Given the description of an element on the screen output the (x, y) to click on. 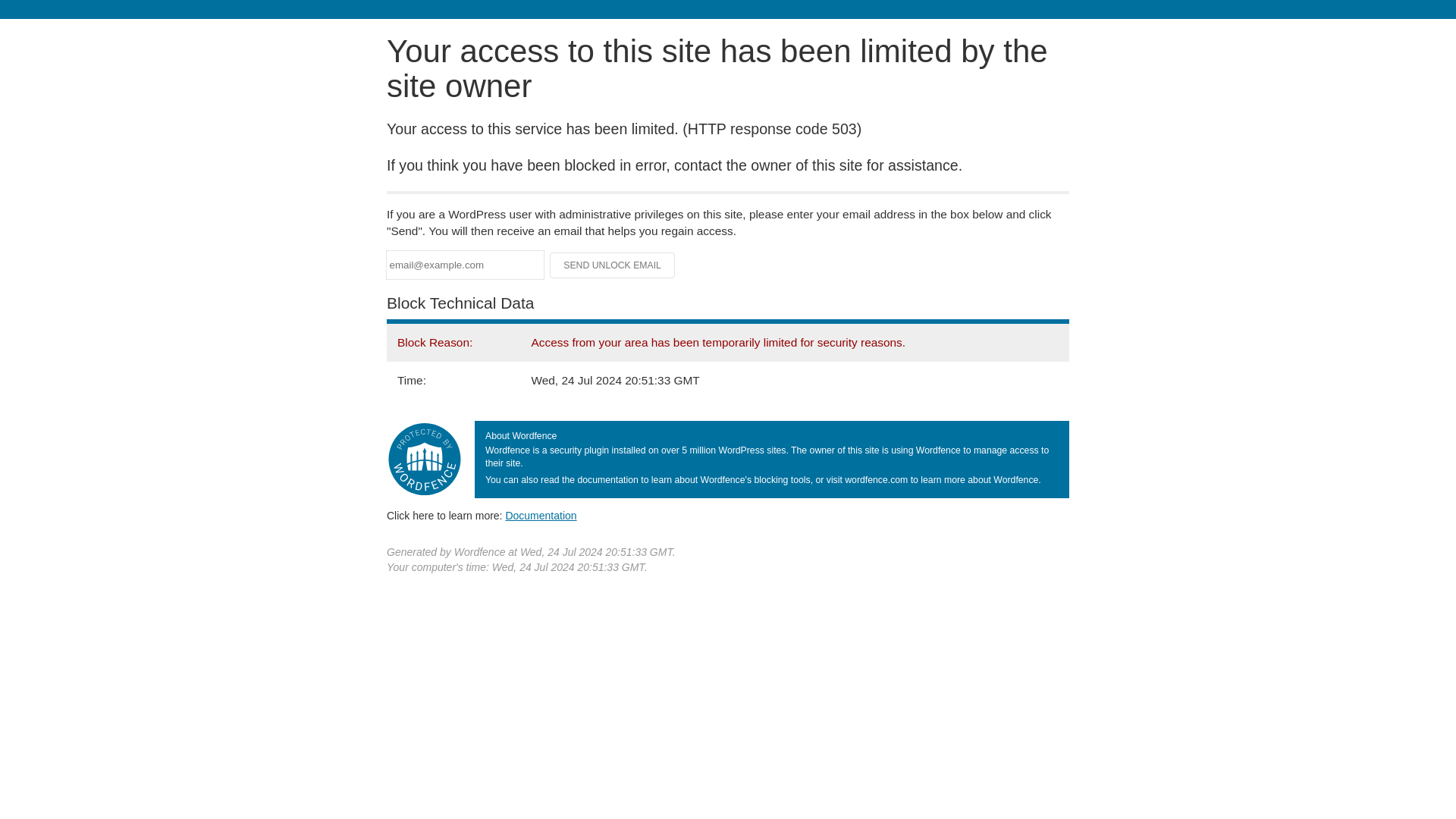
Documentation (540, 515)
Send Unlock Email (612, 265)
Send Unlock Email (612, 265)
